Given the description of an element on the screen output the (x, y) to click on. 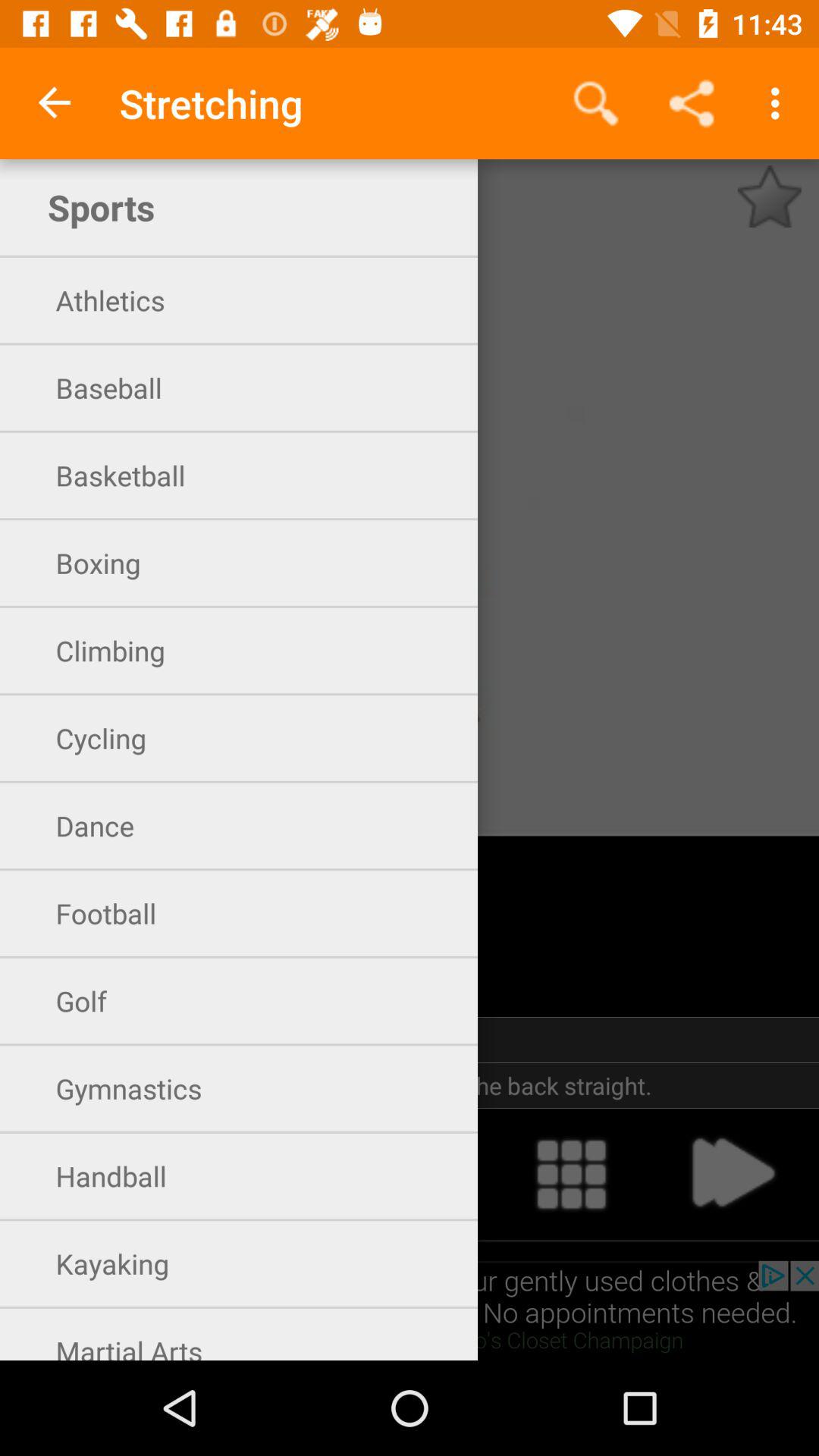
select handball (248, 1174)
